Given the description of an element on the screen output the (x, y) to click on. 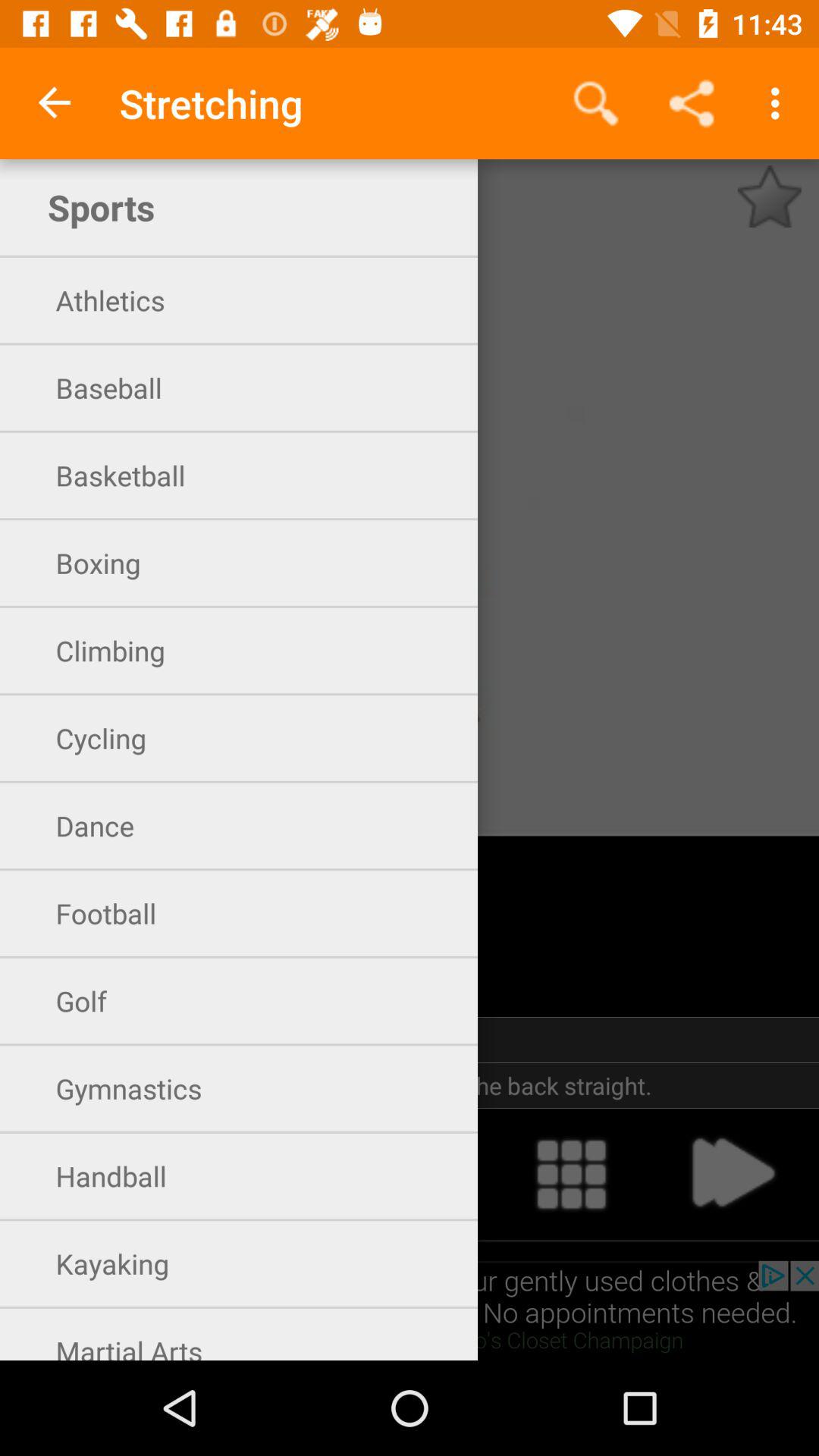
select handball (248, 1174)
